Given the description of an element on the screen output the (x, y) to click on. 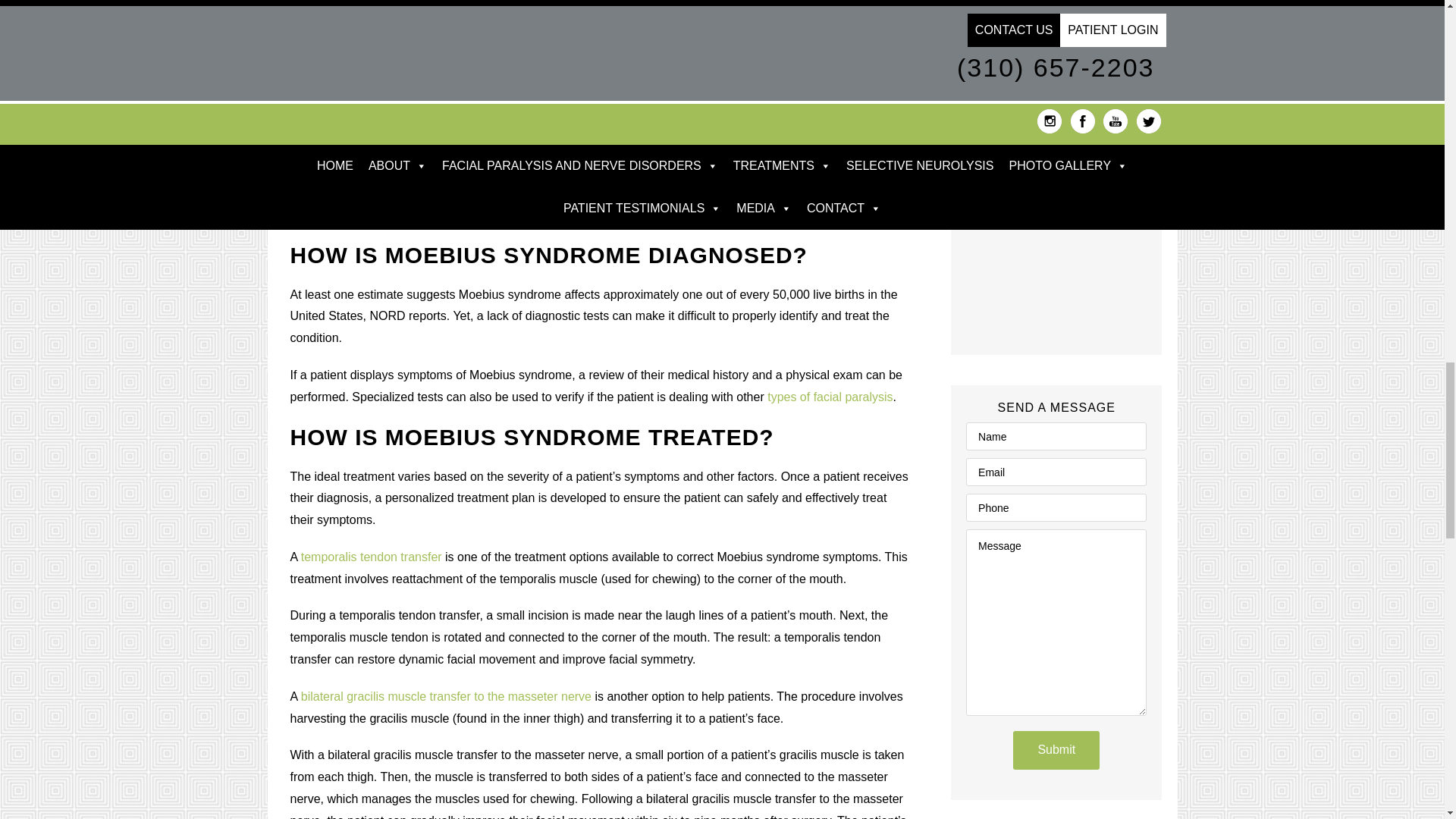
Submit (1056, 750)
